Given the description of an element on the screen output the (x, y) to click on. 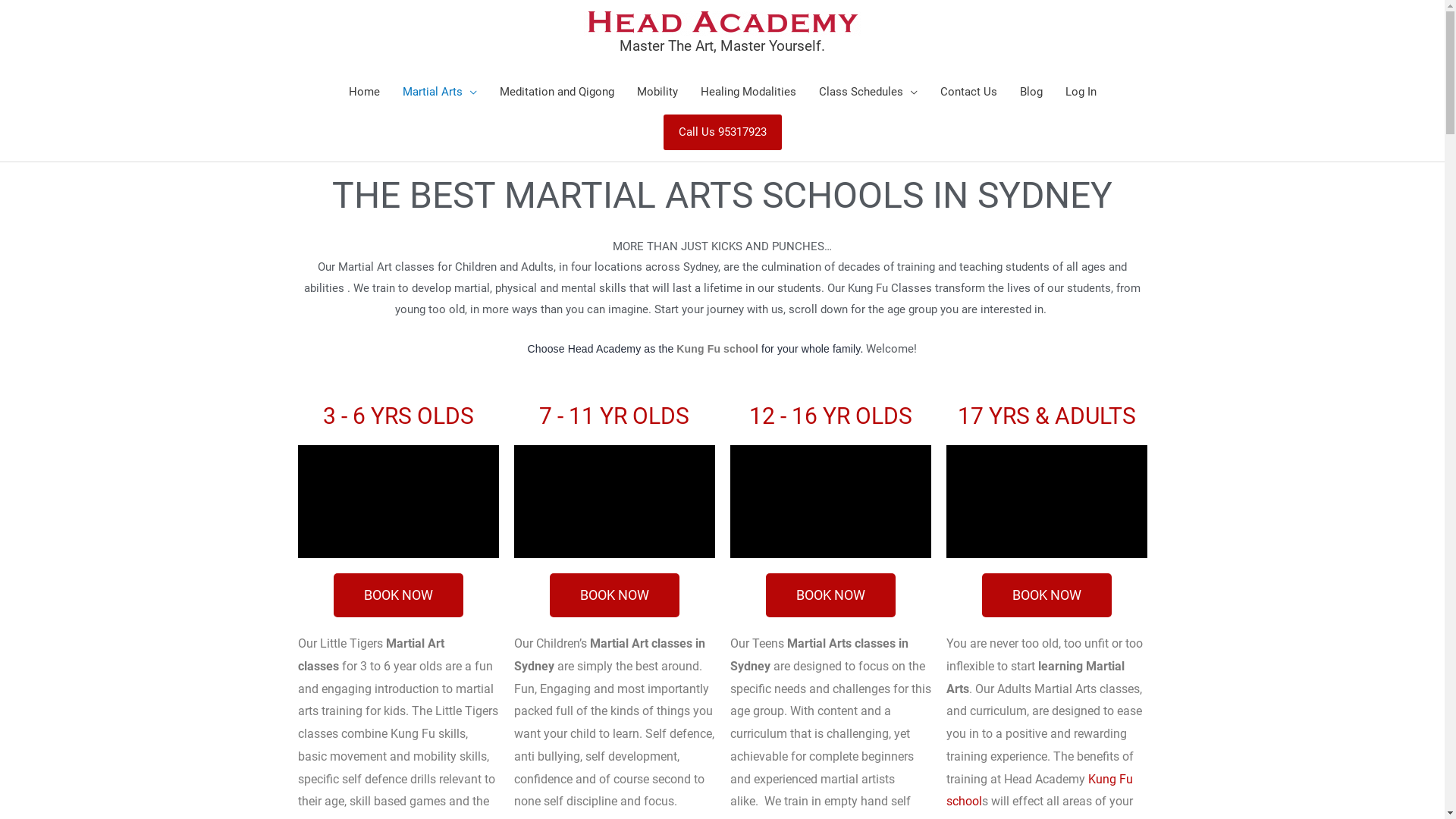
vimeo Video Player Element type: hover (397, 501)
BOOK NOW Element type: text (830, 595)
Class Schedules Element type: text (867, 90)
vimeo Video Player Element type: hover (1046, 501)
Blog Element type: text (1031, 90)
Call Us 95317923 Element type: text (721, 131)
BOOK NOW Element type: text (613, 595)
Martial Arts Element type: text (439, 90)
Contact Us Element type: text (967, 90)
Healing Modalities Element type: text (747, 90)
BOOK NOW Element type: text (1045, 595)
Home Element type: text (363, 90)
Mobility Element type: text (656, 90)
BOOK NOW Element type: text (398, 595)
Meditation and Qigong Element type: text (556, 90)
vimeo Video Player Element type: hover (829, 501)
vimeo Video Player Element type: hover (614, 501)
Log In Element type: text (1080, 90)
Kung Fu school Element type: text (1039, 790)
